Given the description of an element on the screen output the (x, y) to click on. 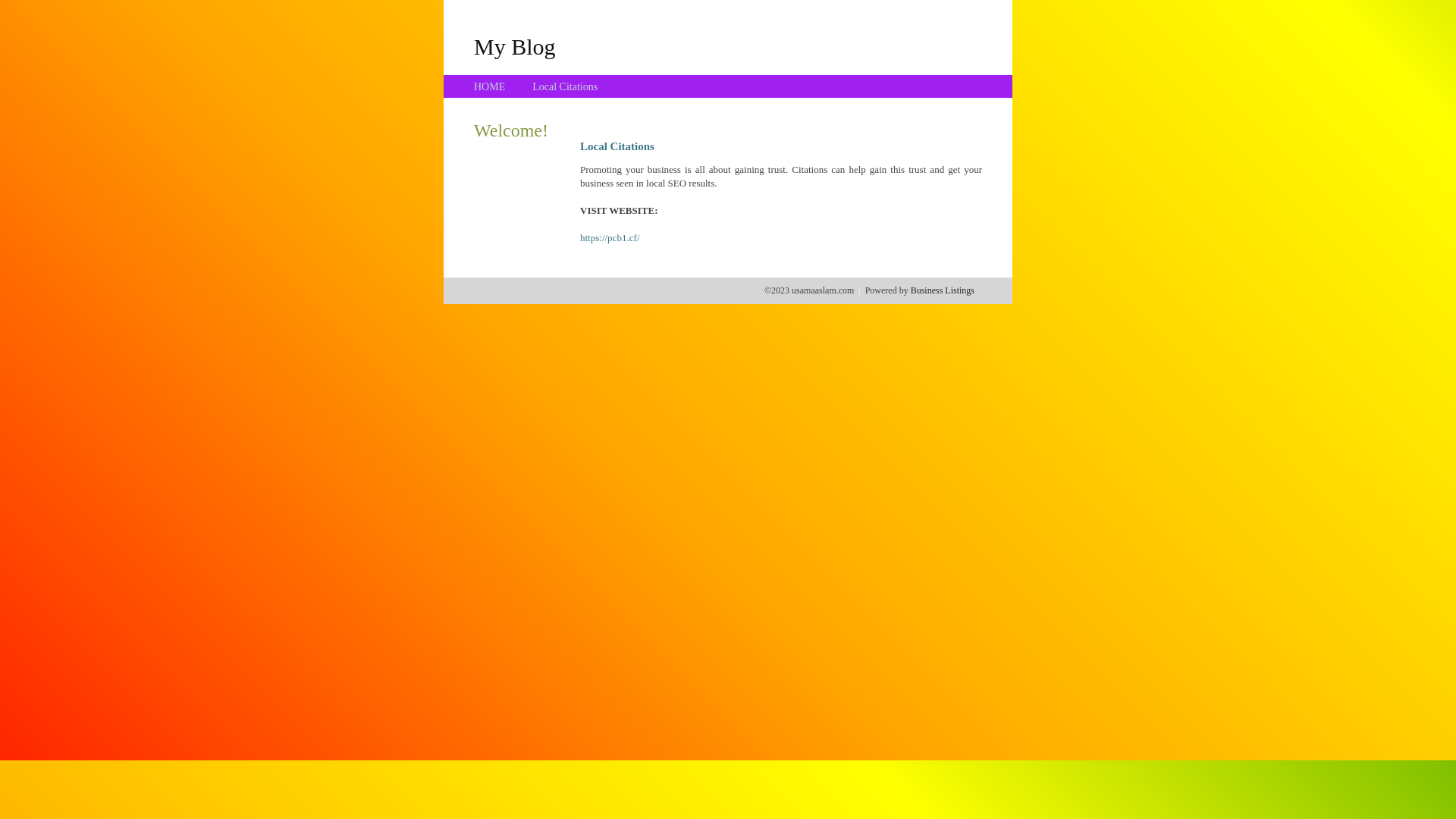
HOME Element type: text (489, 86)
My Blog Element type: text (514, 46)
https://pcb1.cf/ Element type: text (609, 237)
Business Listings Element type: text (942, 290)
Local Citations Element type: text (564, 86)
